Given the description of an element on the screen output the (x, y) to click on. 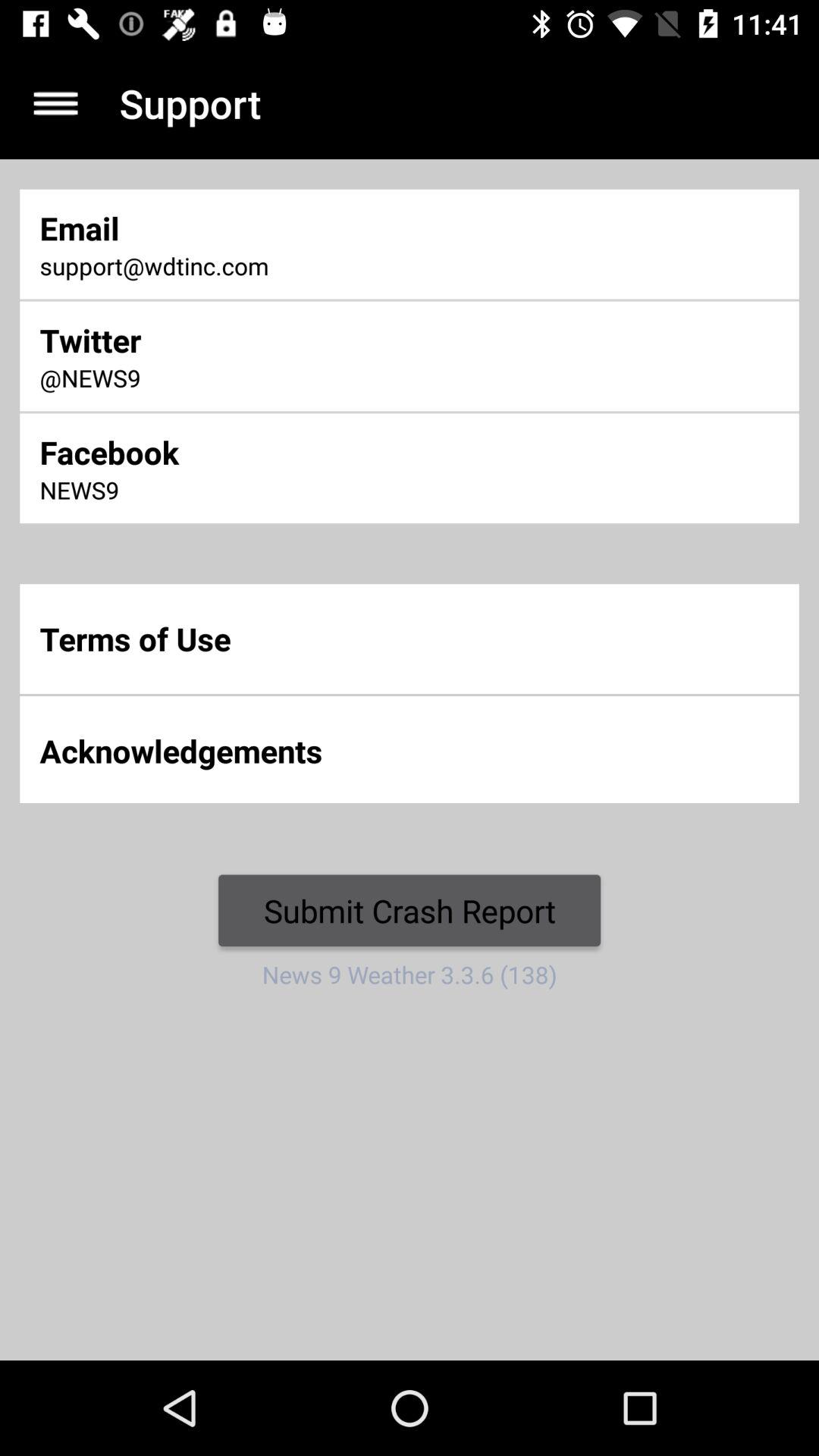
jump to the submit crash report (409, 910)
